Given the description of an element on the screen output the (x, y) to click on. 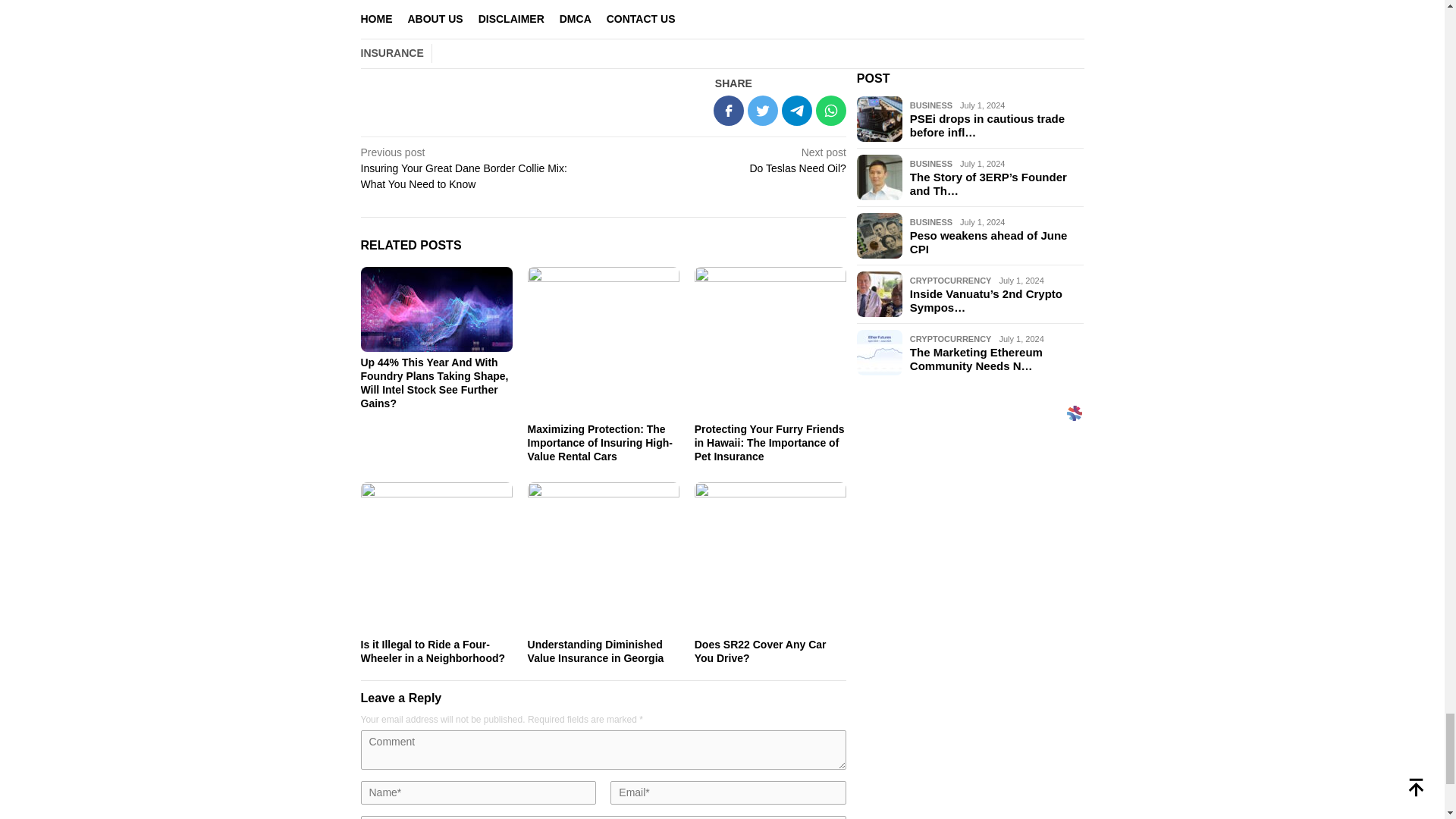
Is it Illegal to Ride a Four-Wheeler in a Neighborhood? (728, 159)
Understanding Diminished Value Insurance in Georgia (433, 651)
